Given the description of an element on the screen output the (x, y) to click on. 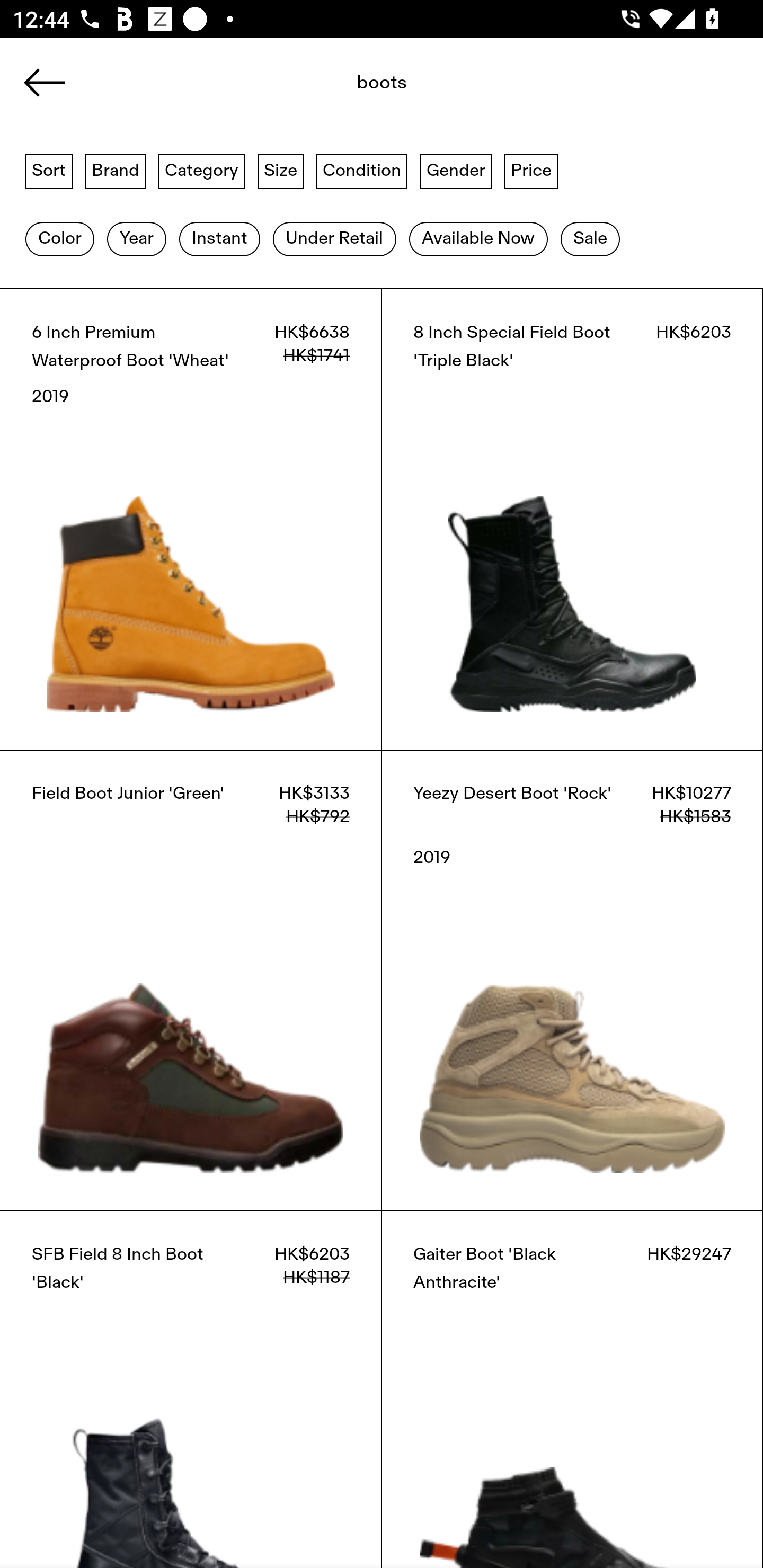
Search (340, 88)
Sort (48, 170)
Brand (115, 170)
Category (201, 170)
Size (280, 170)
Condition (361, 170)
Gender (455, 170)
Price (530, 170)
Color (59, 239)
Year (136, 239)
Instant (219, 239)
Under Retail (334, 239)
Available Now (477, 239)
Sale (589, 239)
8 Inch Special Field Boot 'Triple Black' HK$6203 (572, 518)
Field Boot Junior 'Green' HK$3133 HK$792 (190, 979)
Yeezy Desert Boot 'Rock' HK$10277 HK$1583 2019 (572, 979)
SFB Field 8 Inch Boot 'Black' HK$6203 HK$1187 (190, 1389)
Gaiter Boot 'Black Anthracite' HK$29247 (572, 1389)
